Given the description of an element on the screen output the (x, y) to click on. 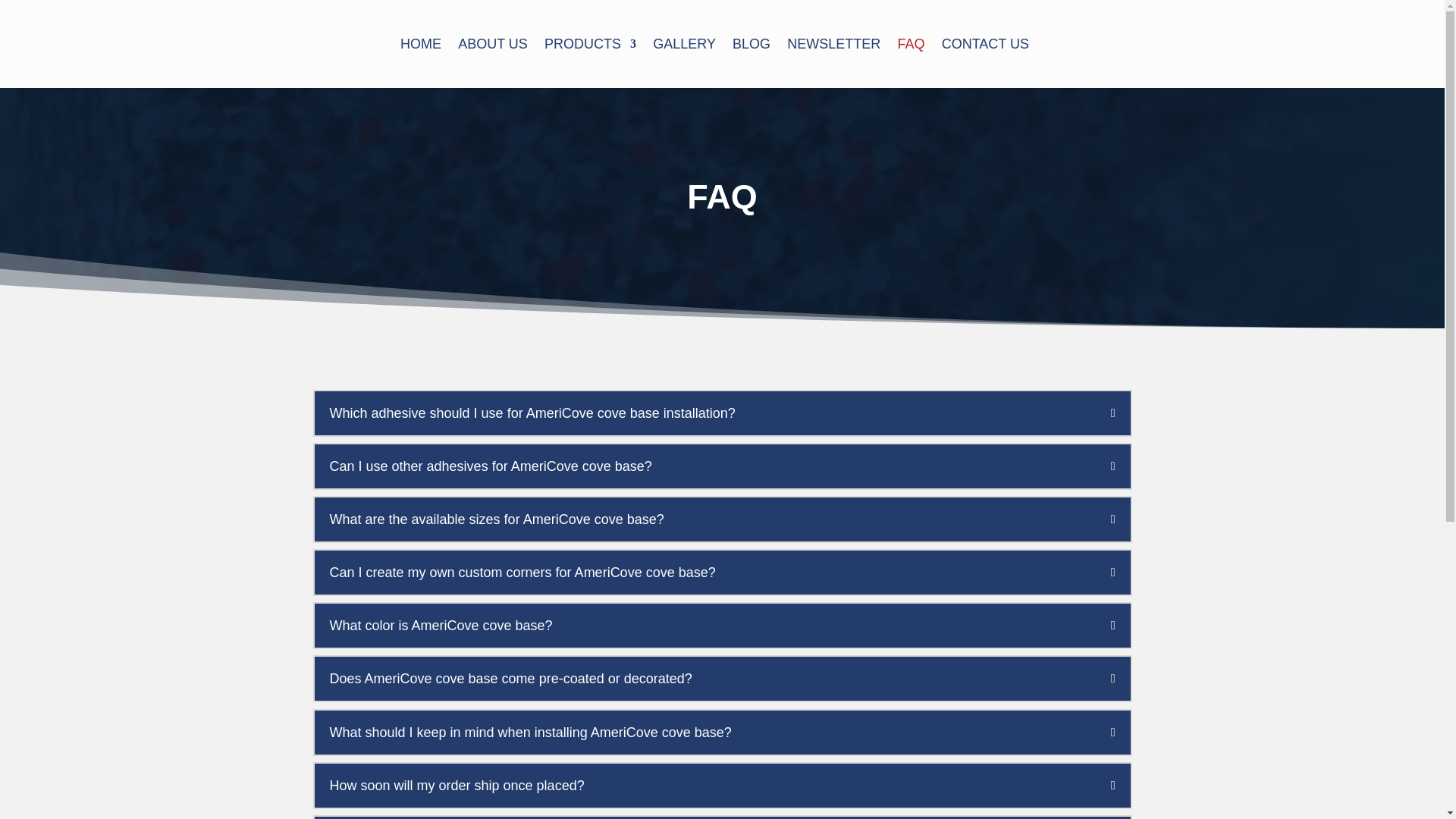
ABOUT US (492, 62)
GALLERY (684, 62)
CONTACT US (985, 62)
PRODUCTS (590, 62)
NEWSLETTER (833, 62)
